Given the description of an element on the screen output the (x, y) to click on. 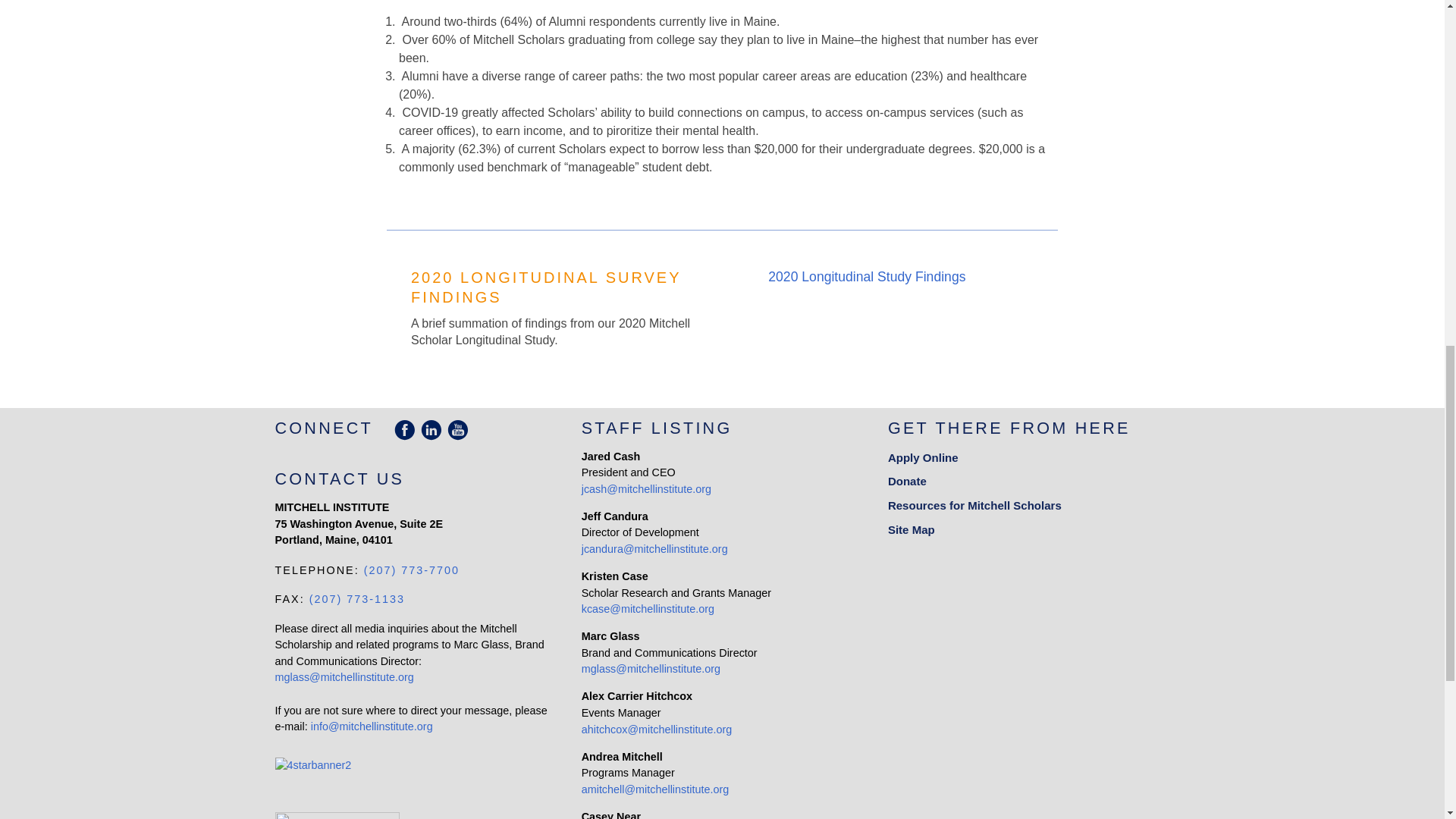
2020 Longitudinal Study Findings (887, 276)
CONTACT US (339, 478)
